Given the description of an element on the screen output the (x, y) to click on. 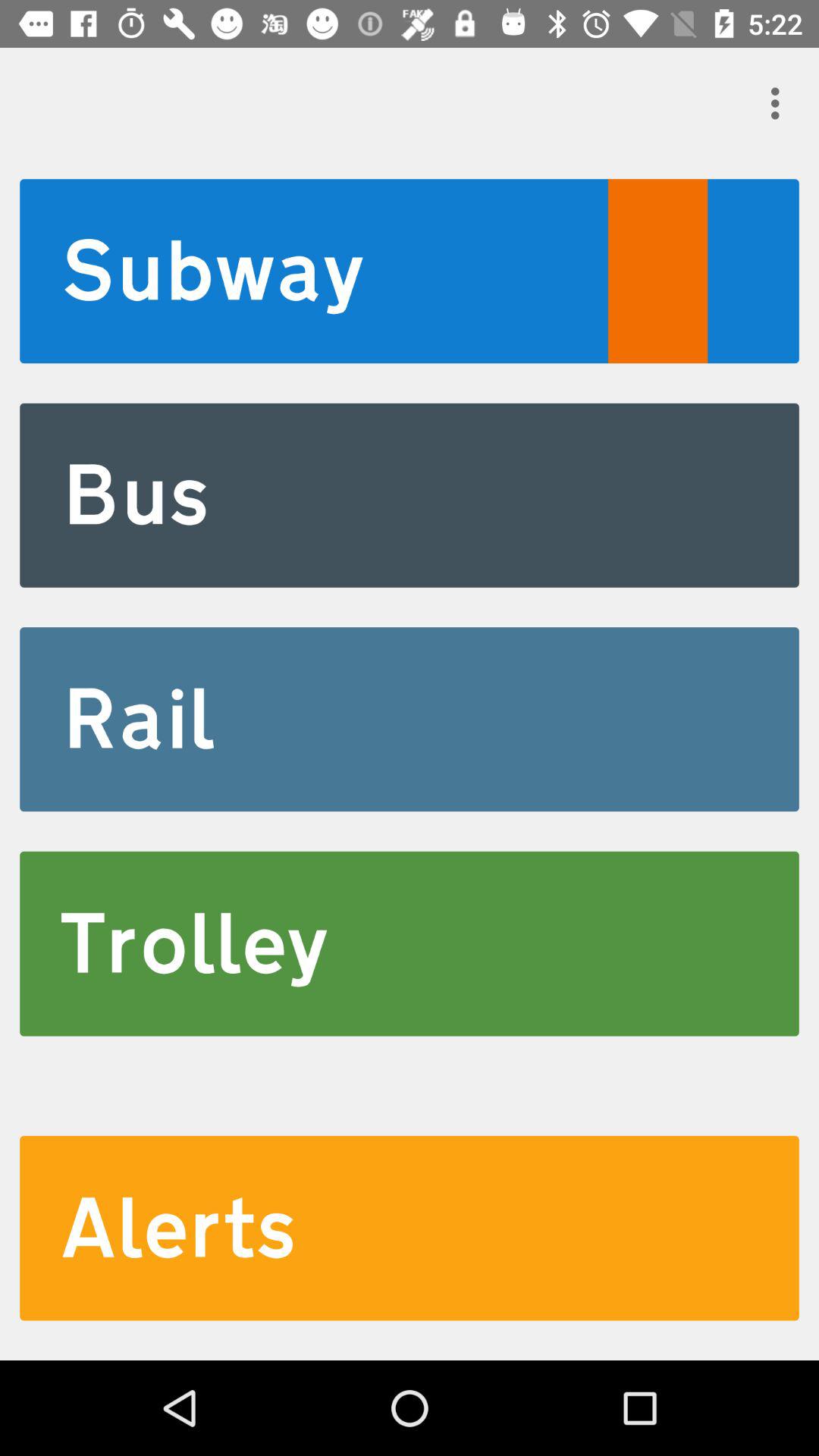
click the alerts (409, 1227)
